Given the description of an element on the screen output the (x, y) to click on. 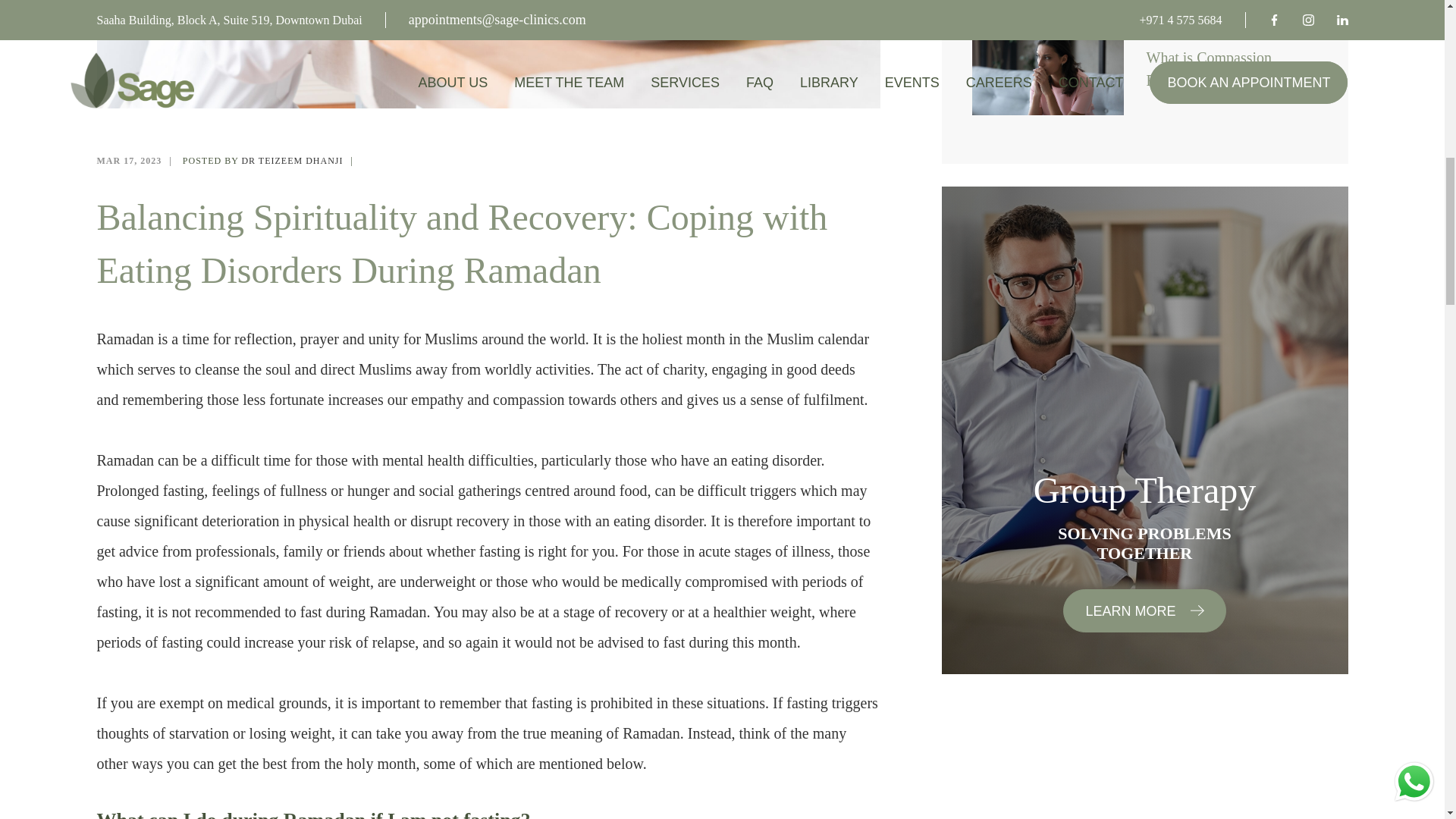
DR TEIZEEM DHANJI (291, 160)
What is Compassion Focused Therapy? (1232, 68)
LEARN MORE (1143, 610)
